Given the description of an element on the screen output the (x, y) to click on. 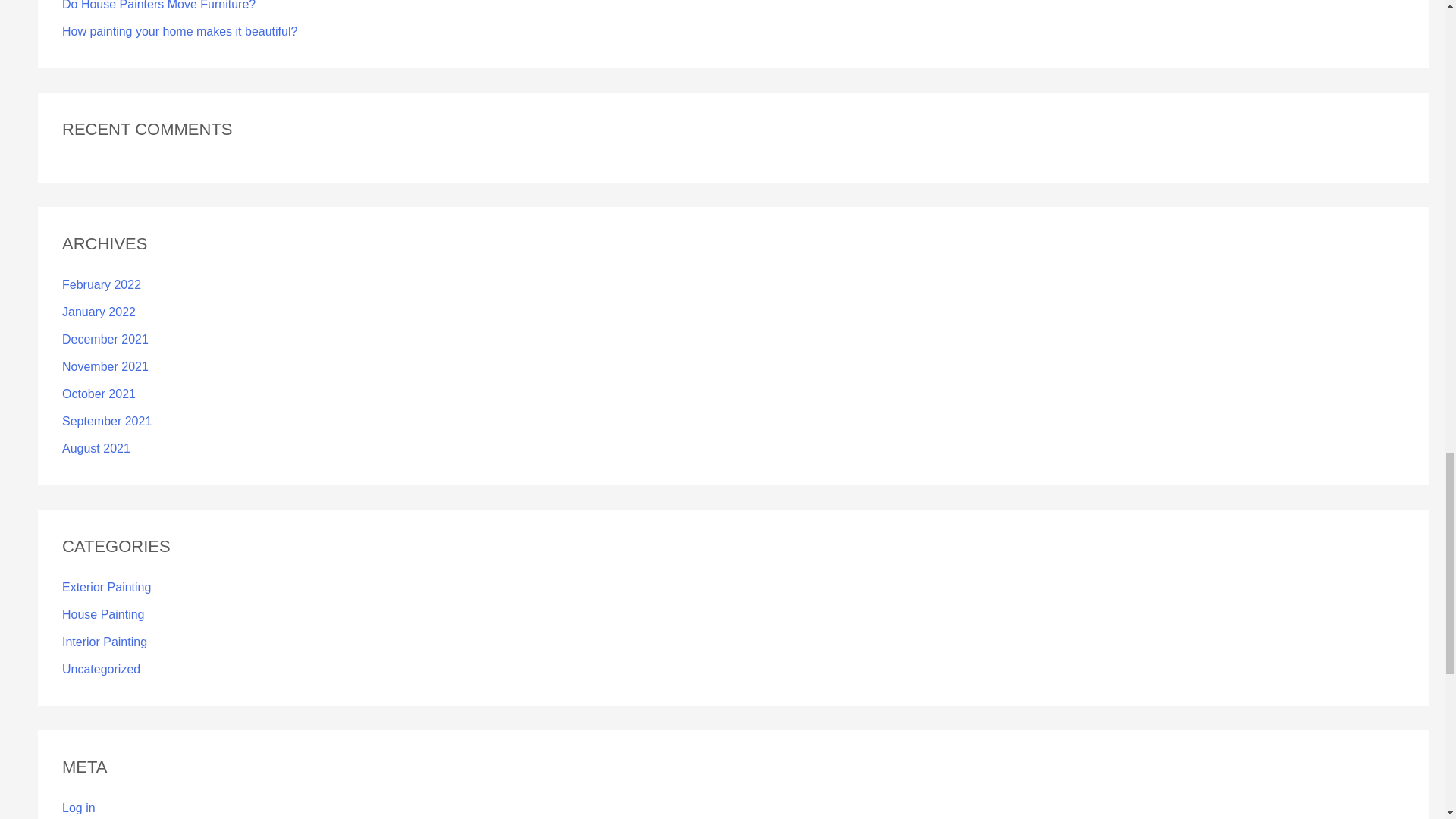
August 2021 (96, 448)
December 2021 (105, 338)
Interior Painting (104, 641)
Uncategorized (100, 668)
October 2021 (98, 393)
Log in (79, 807)
How painting your home makes it beautiful? (179, 31)
Do House Painters Move Furniture? (159, 5)
January 2022 (98, 311)
February 2022 (101, 284)
